Given the description of an element on the screen output the (x, y) to click on. 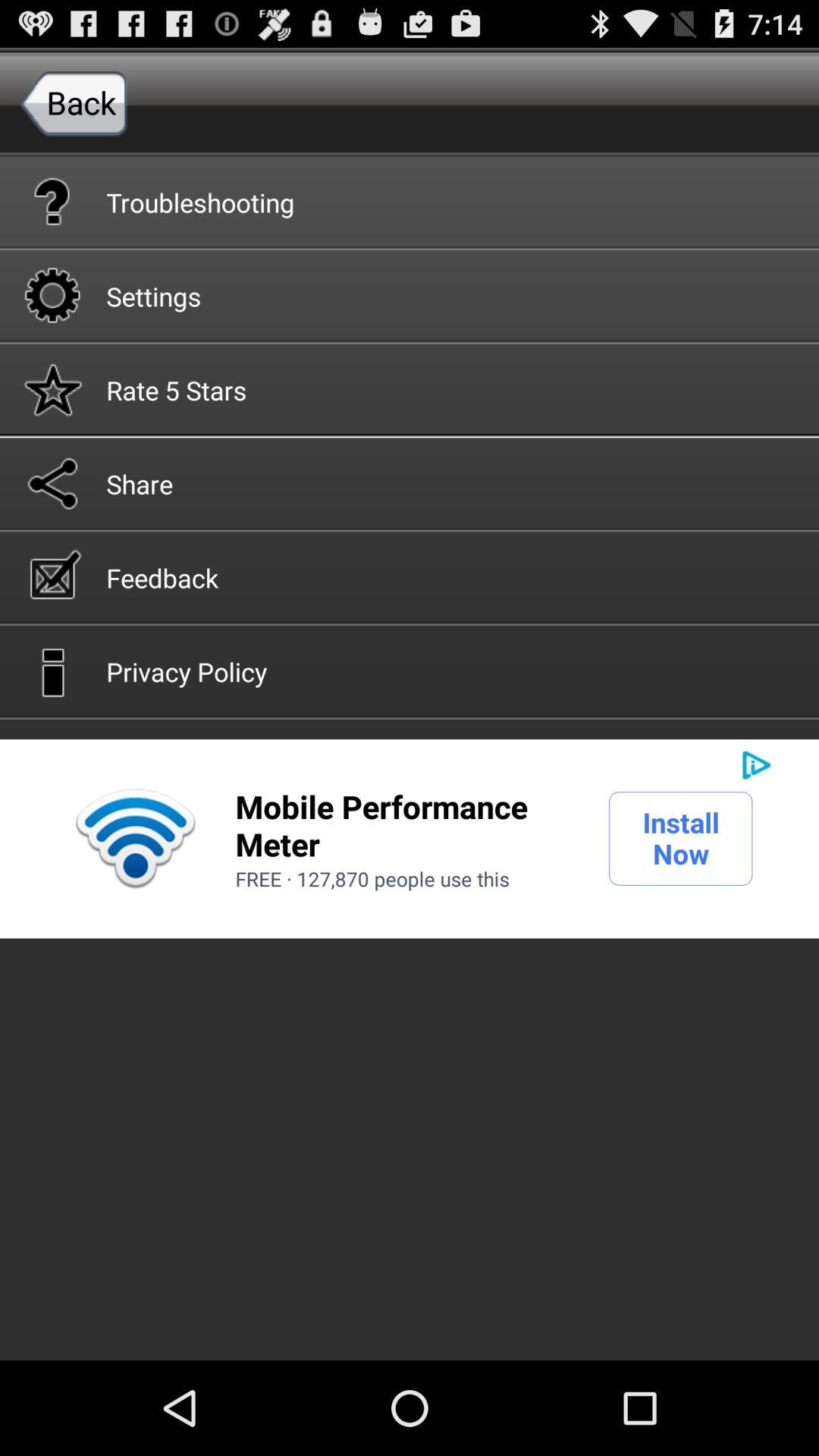
scroll to install now app (680, 838)
